Given the description of an element on the screen output the (x, y) to click on. 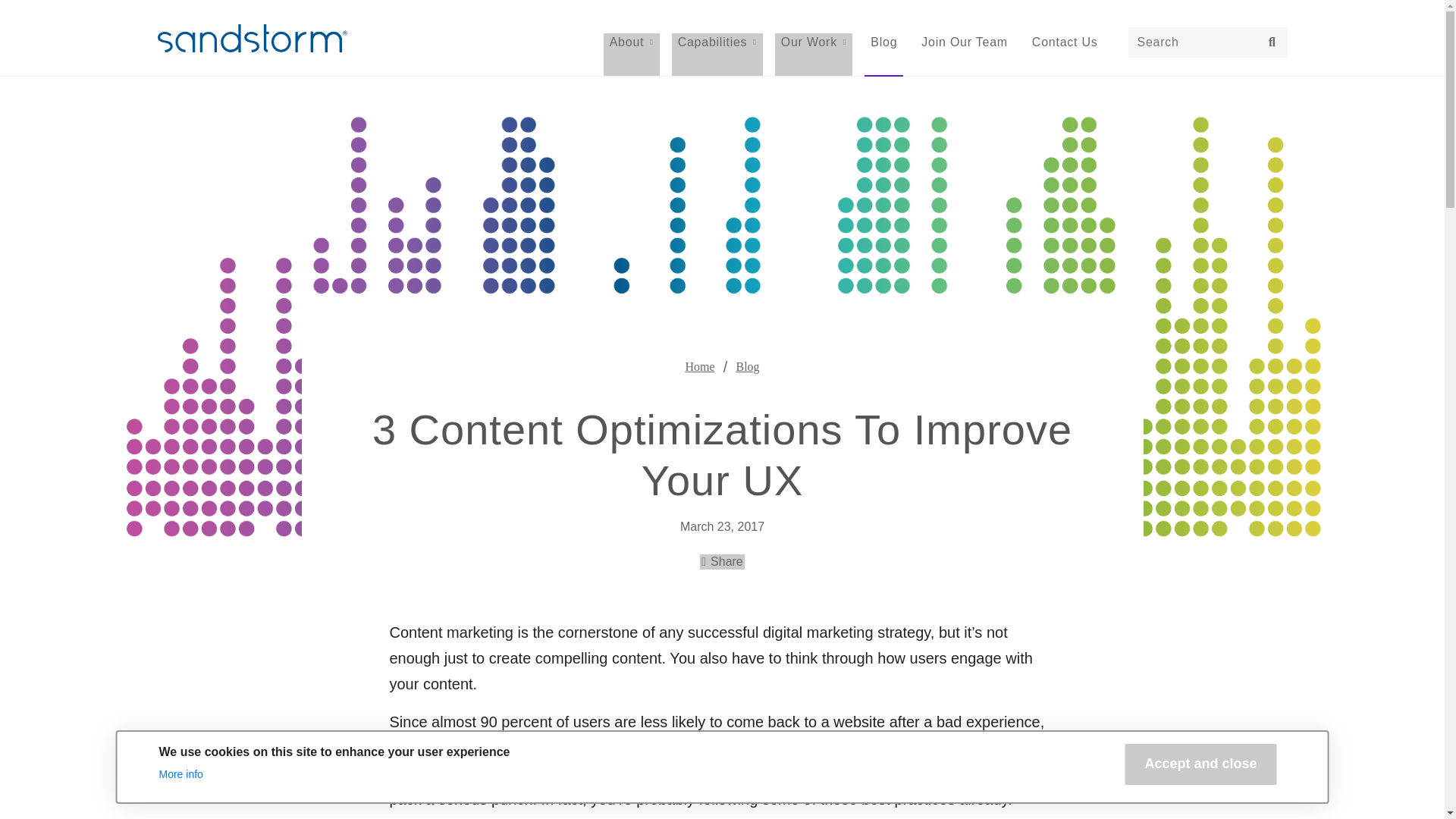
Blog (746, 366)
Join Our Team (964, 54)
Home (699, 366)
Apply (1272, 42)
creating compelling, user-friendly content (687, 760)
Blog (883, 54)
About (631, 54)
Capabilities (716, 54)
5 Steps to Tell Your Brand Story Through Content Marketing (687, 760)
Our Work (722, 561)
Contact Us (813, 54)
